Given the description of an element on the screen output the (x, y) to click on. 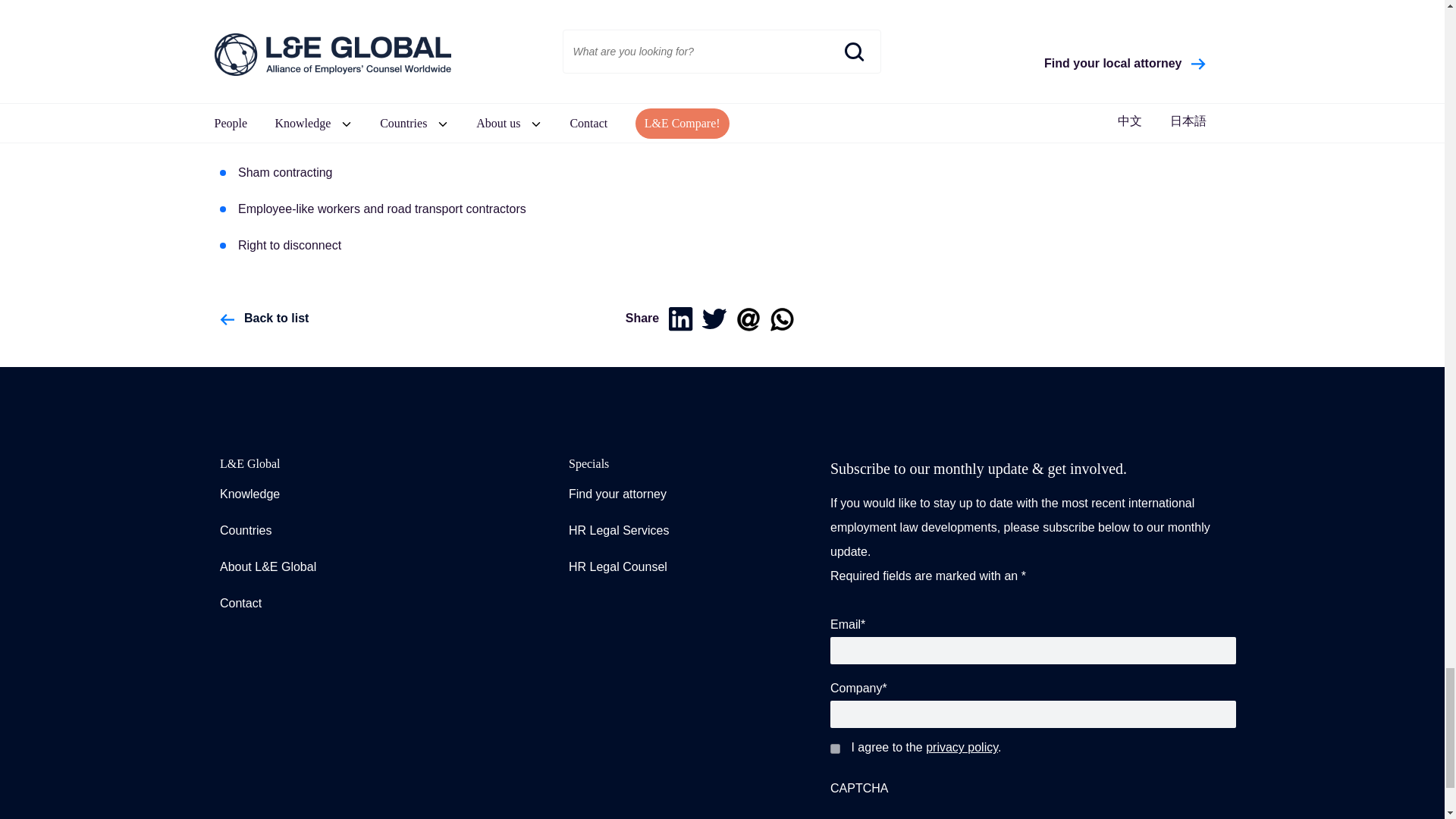
1 (834, 748)
